Given the description of an element on the screen output the (x, y) to click on. 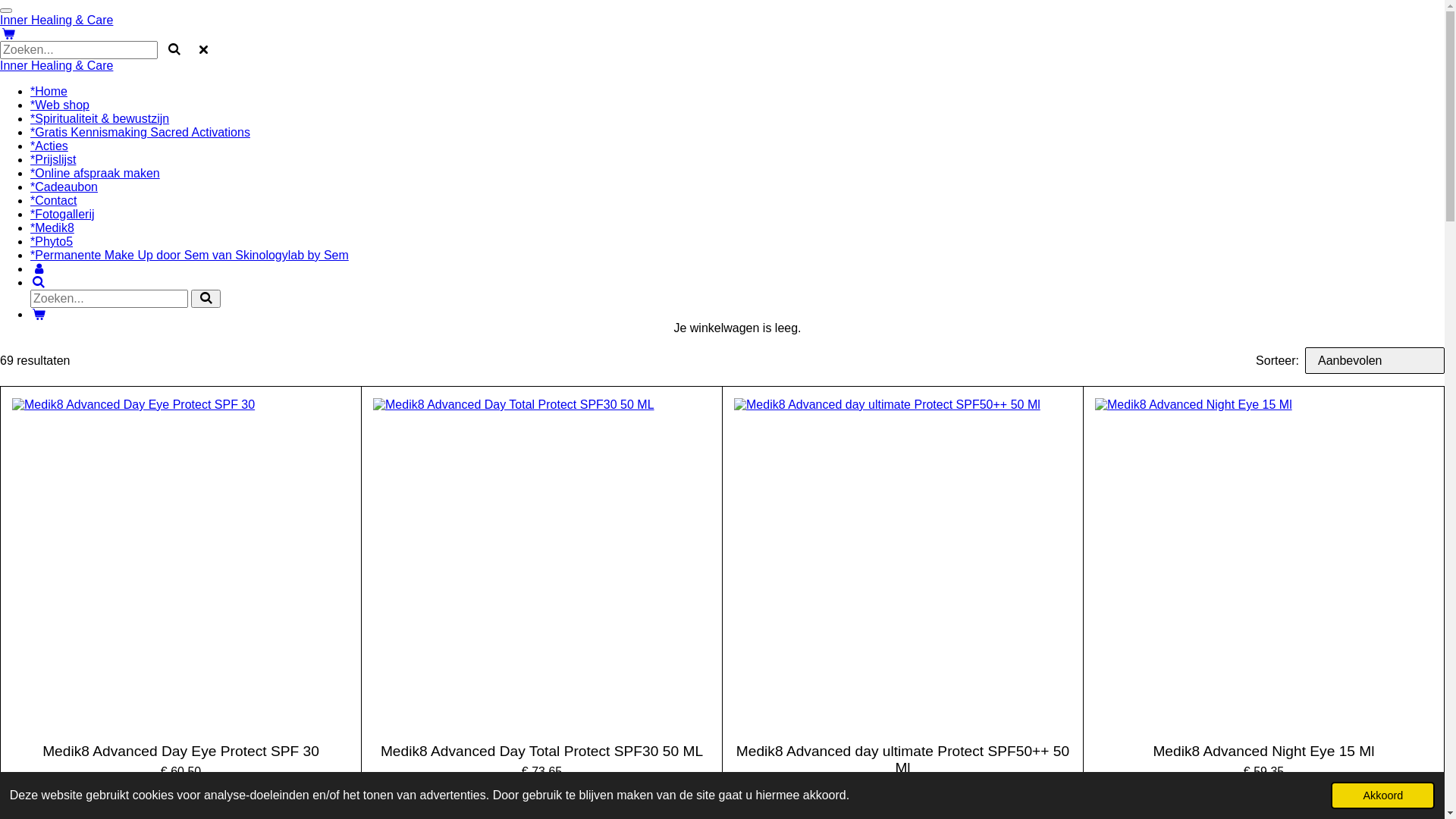
*Phyto5 Element type: text (51, 241)
Inner Healing & Care Element type: text (56, 65)
Medik8 Advanced Day Total Protect SPF30 50 ML Element type: text (541, 751)
*Home Element type: text (48, 90)
Medik8 Advanced Night Eye 15 Ml Element type: text (1263, 751)
*Online afspraak maken Element type: text (95, 172)
Medik8 Advanced day ultimate Protect SPF50++ 50 Ml Element type: text (902, 760)
*Prijslijst Element type: text (52, 159)
*Permanente Make Up door Sem van Skinologylab by Sem Element type: text (189, 254)
*Gratis Kennismaking Sacred Activations Element type: text (140, 131)
Account Element type: hover (38, 268)
Bekijk winkelwagen Element type: hover (38, 313)
Medik8 Advanced Day Eye Protect SPF 30 Element type: text (180, 751)
*Cadeaubon Element type: text (63, 186)
*Spiritualiteit & bewustzijn Element type: text (99, 118)
*Medik8 Element type: text (52, 227)
*Fotogallerij Element type: text (62, 213)
Zoeken Element type: hover (38, 282)
*Contact Element type: text (53, 200)
Akkoord Element type: text (1382, 795)
*Acties Element type: text (49, 145)
*Web shop Element type: text (59, 104)
Inner Healing & Care Element type: text (56, 19)
